Given the description of an element on the screen output the (x, y) to click on. 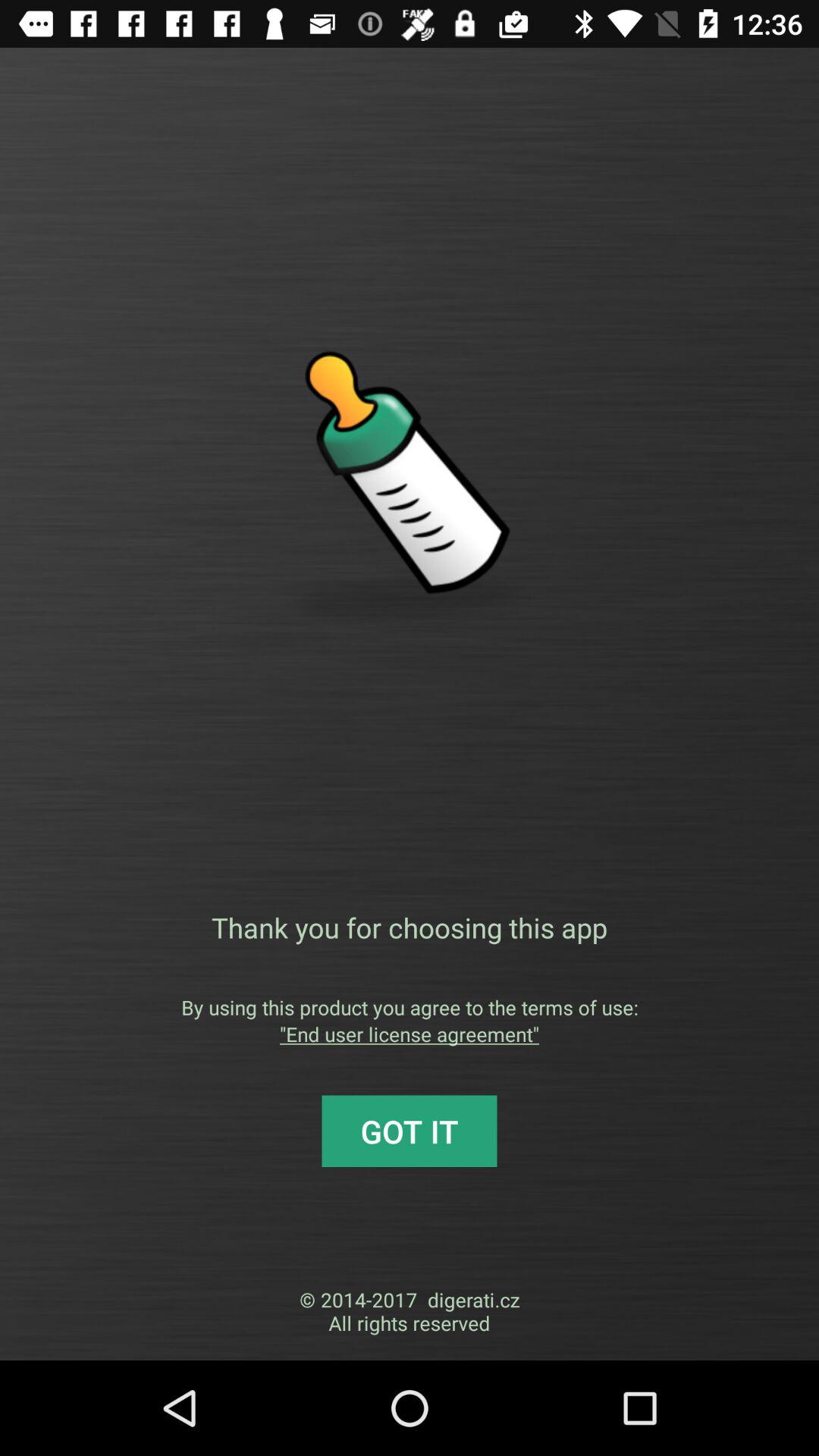
choose the thank you for app (409, 927)
